Given the description of an element on the screen output the (x, y) to click on. 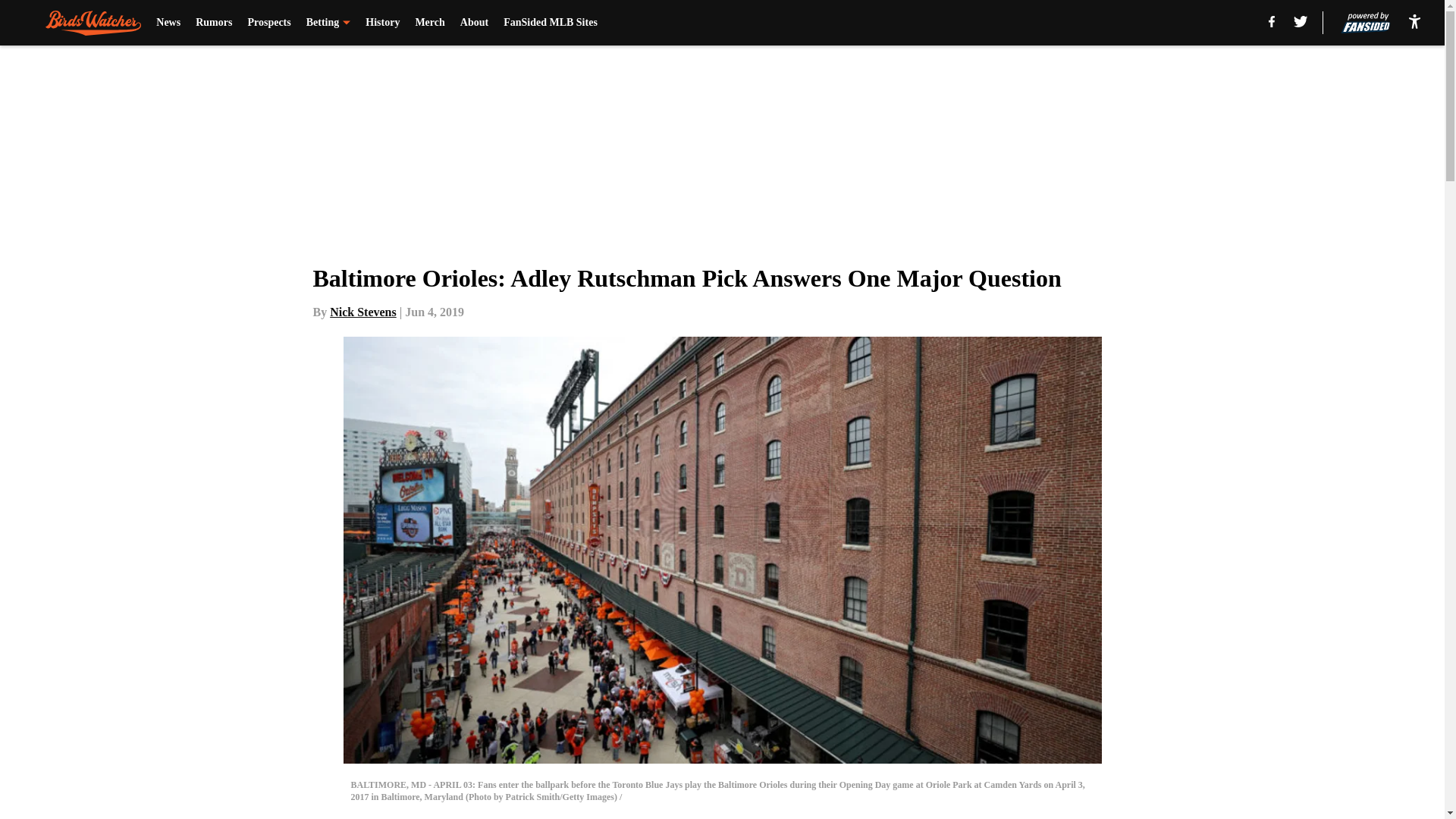
Rumors (213, 22)
News (167, 22)
Merch (429, 22)
About (473, 22)
Nick Stevens (363, 311)
History (381, 22)
FanSided MLB Sites (549, 22)
Prospects (268, 22)
